Given the description of an element on the screen output the (x, y) to click on. 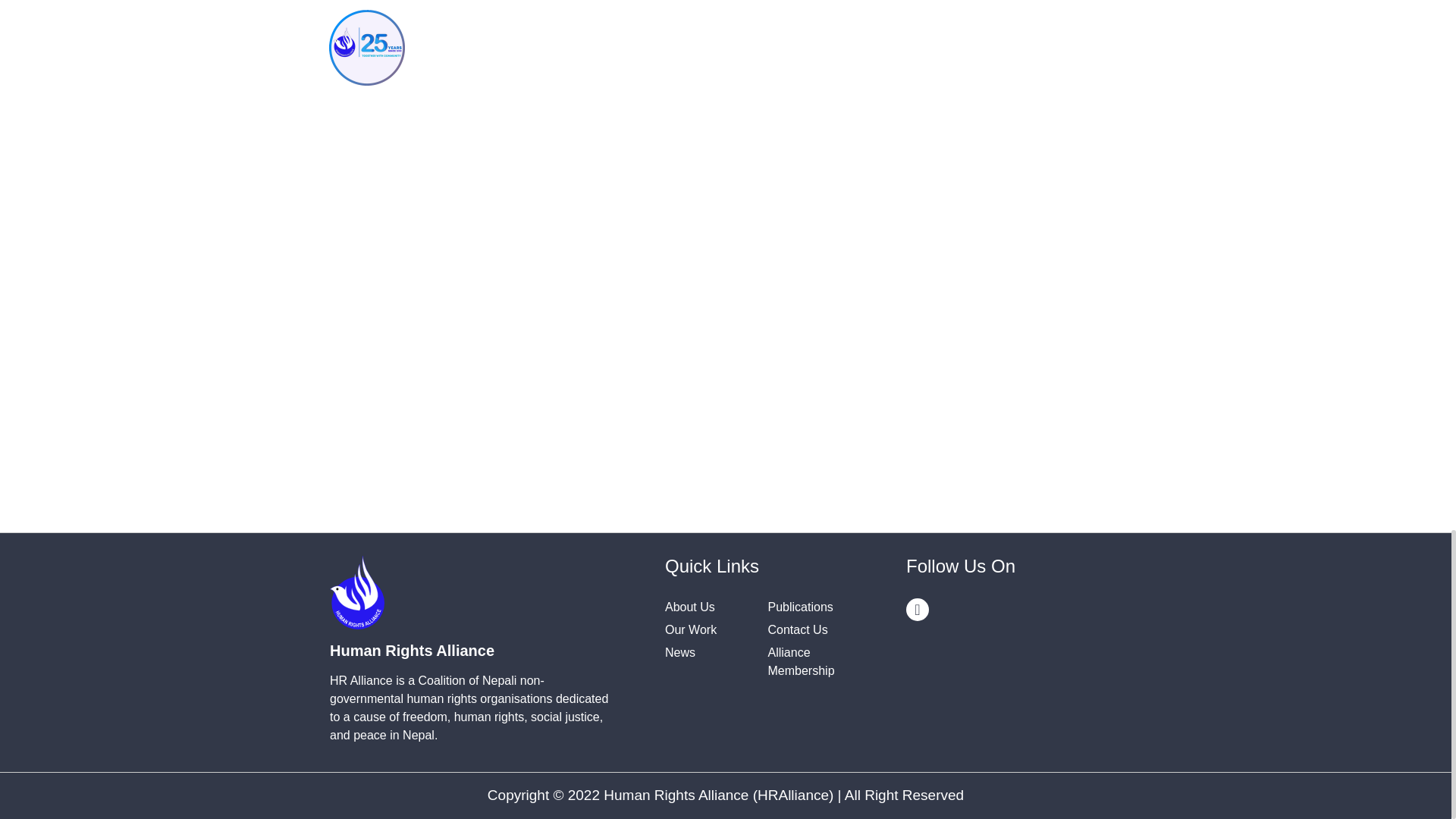
Publications (799, 606)
Alliance Membership (800, 661)
About Us (689, 606)
News (680, 652)
Our Work (690, 629)
Contact Us (797, 629)
